Given the description of an element on the screen output the (x, y) to click on. 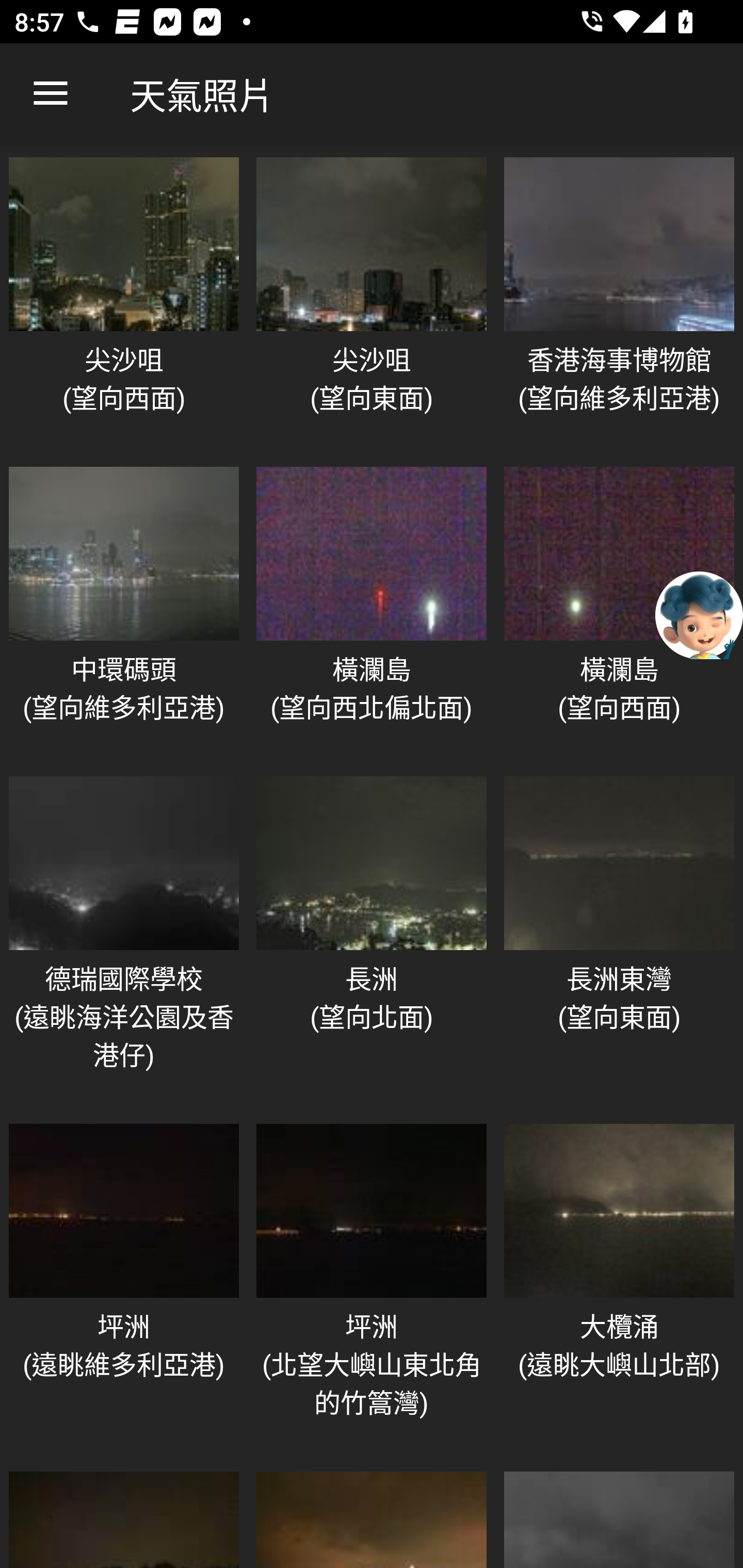
向上瀏覽 (50, 93)
尖沙咀
(望向西面) (123, 300)
尖沙咀
(望向東面) (371, 300)
香港海事博物館
(望向維多利亞港) (619, 300)
中環碼頭
(望向維多利亞港) (123, 610)
橫瀾島
(望向西北偏北面) (371, 610)
橫瀾島
(望向西面) (619, 610)
聊天機械人 (699, 614)
德瑞國際學校
(遠眺海洋公園及香港仔) (123, 939)
長洲
(望向北面) (371, 939)
長洲東灣
(望向東面) (619, 939)
坪洲
(遠眺維多利亞港) (123, 1287)
坪洲
(北望大嶼山東北角的竹篙灣) (371, 1287)
大欖涌
(遠眺大嶼山北部) (619, 1287)
